Given the description of an element on the screen output the (x, y) to click on. 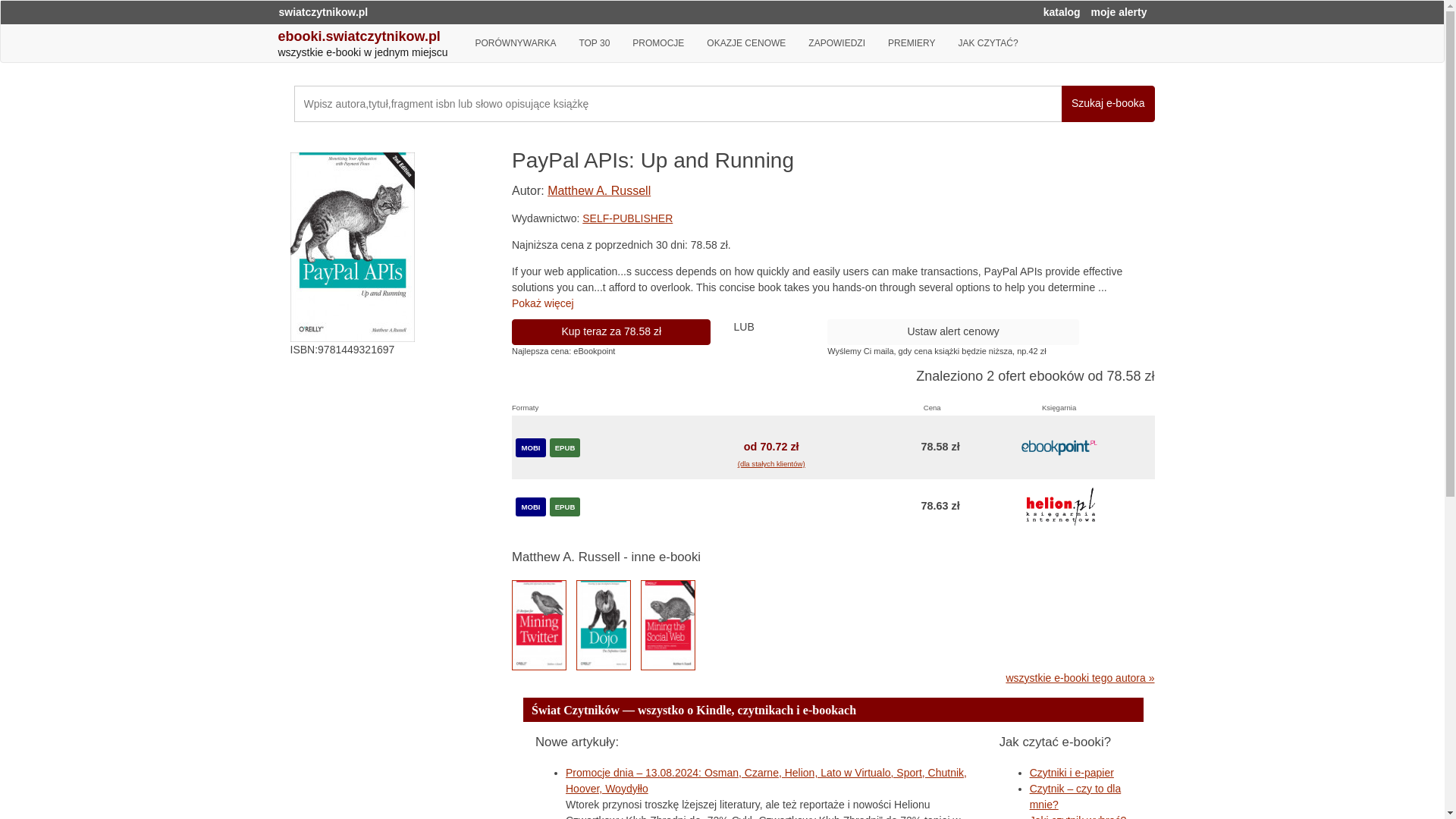
swiatczytnikow.pl (323, 11)
moje alerty (1118, 11)
Matthew A. Russell (598, 190)
SELF-PUBLISHER (627, 218)
PREMIERY (911, 43)
OKAZJE CENOWE (745, 43)
PROMOCJE (658, 43)
katalog (1061, 11)
ebooki.swiatczytnikow.pl wszystkie e-booki w jednym miejscu (369, 45)
Szukaj e-booka (1107, 103)
